Given the description of an element on the screen output the (x, y) to click on. 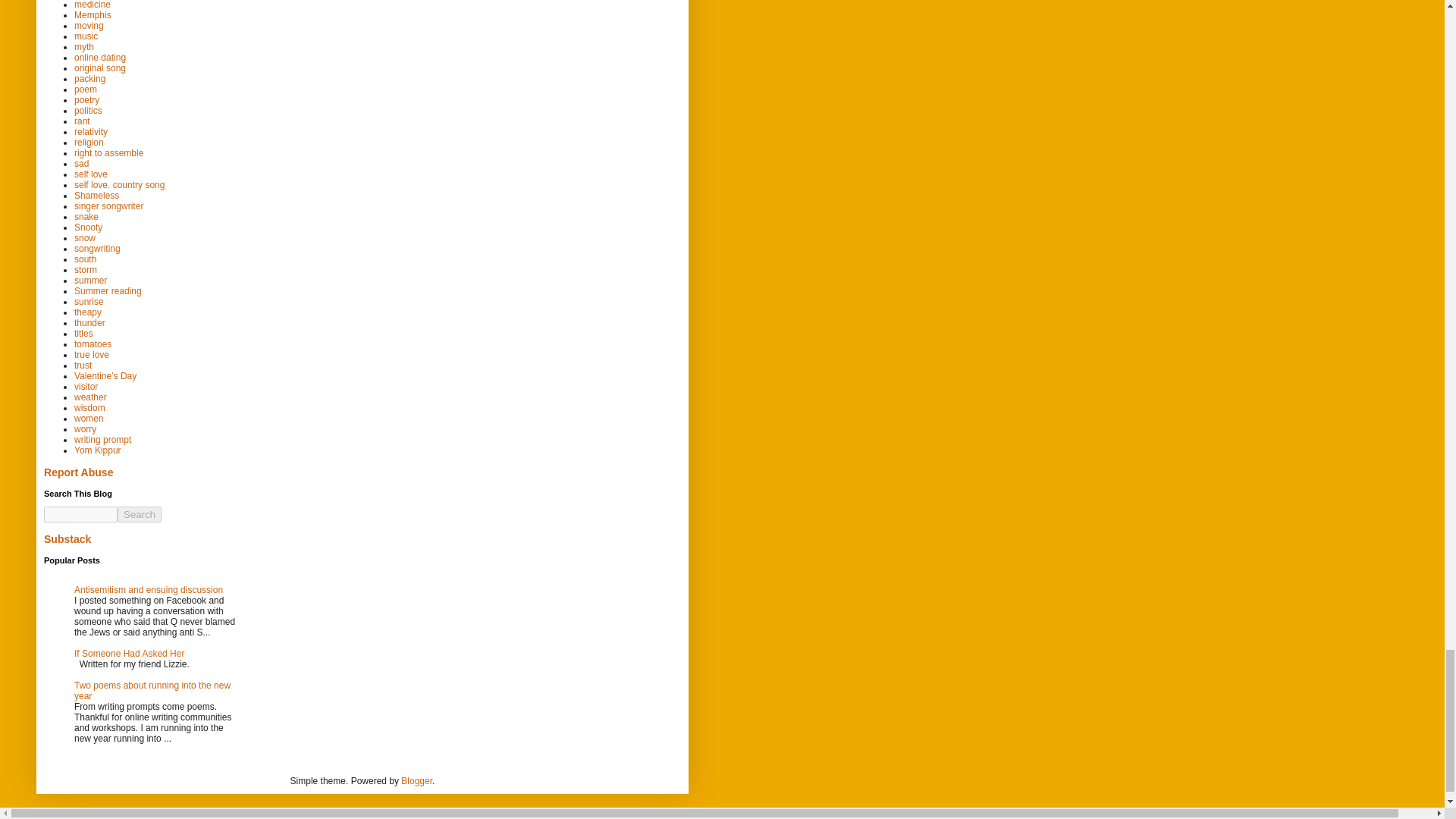
Search (139, 514)
search (80, 514)
search (139, 514)
Search (139, 514)
